Given the description of an element on the screen output the (x, y) to click on. 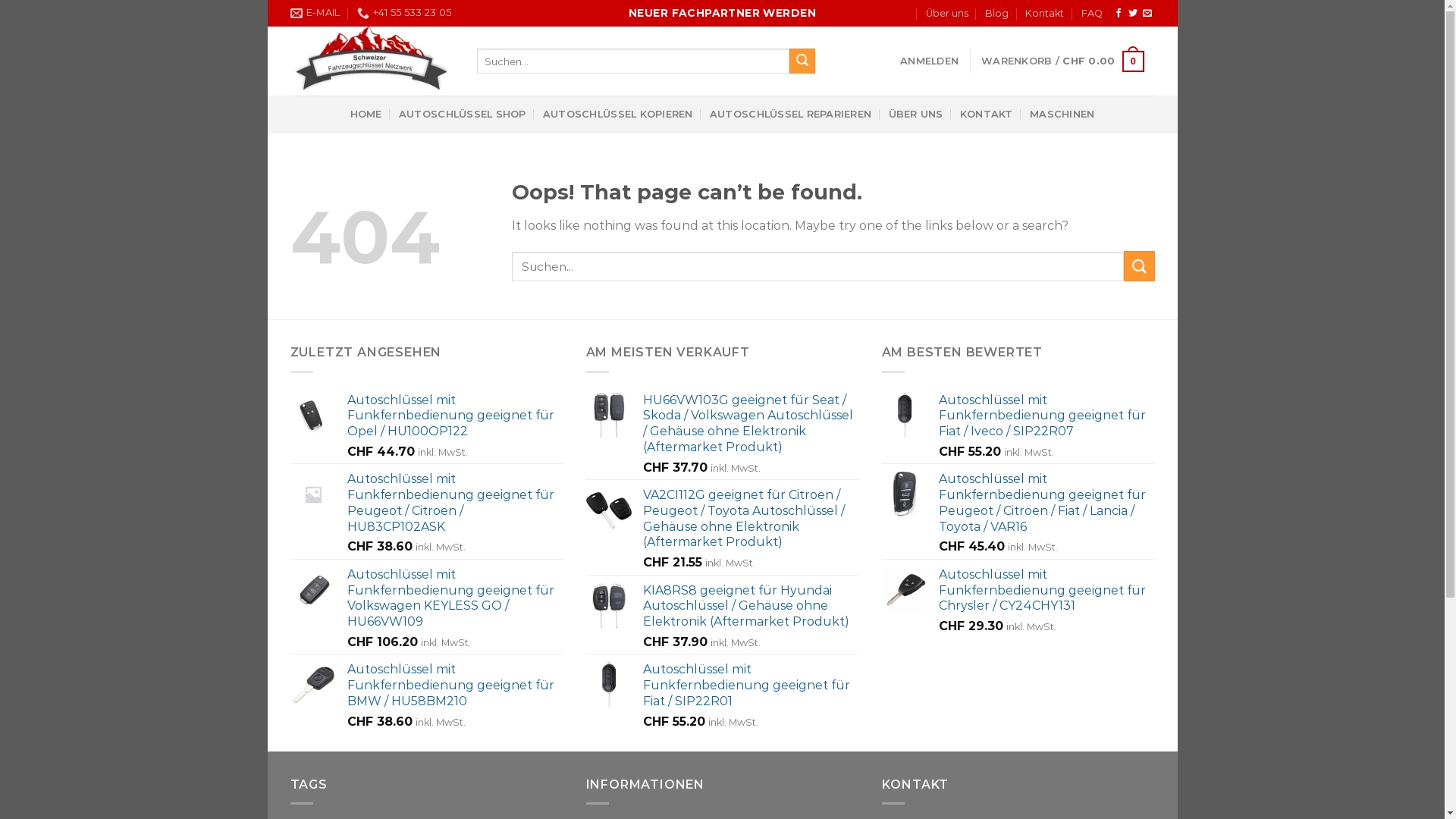
+41 55 533 23 05 Element type: text (404, 12)
NEUER FACHPARTNER WERDEN Element type: text (721, 13)
Kontakt Element type: text (1044, 13)
ANMELDEN Element type: text (929, 61)
FAQ Element type: text (1091, 13)
E-MAIL Element type: text (314, 12)
KONTAKT Element type: text (986, 114)
MASCHINEN Element type: text (1061, 114)
Schicken Sie uns eine E-Mail Element type: hover (1146, 13)
WARENKORB / CHF 0.00
0 Element type: text (1062, 61)
Suche Element type: text (802, 61)
Auf Facebook folgen Element type: hover (1118, 13)
HOME Element type: text (366, 114)
Blog Element type: text (996, 13)
Auf Twitter folgen Element type: hover (1132, 13)
